Given the description of an element on the screen output the (x, y) to click on. 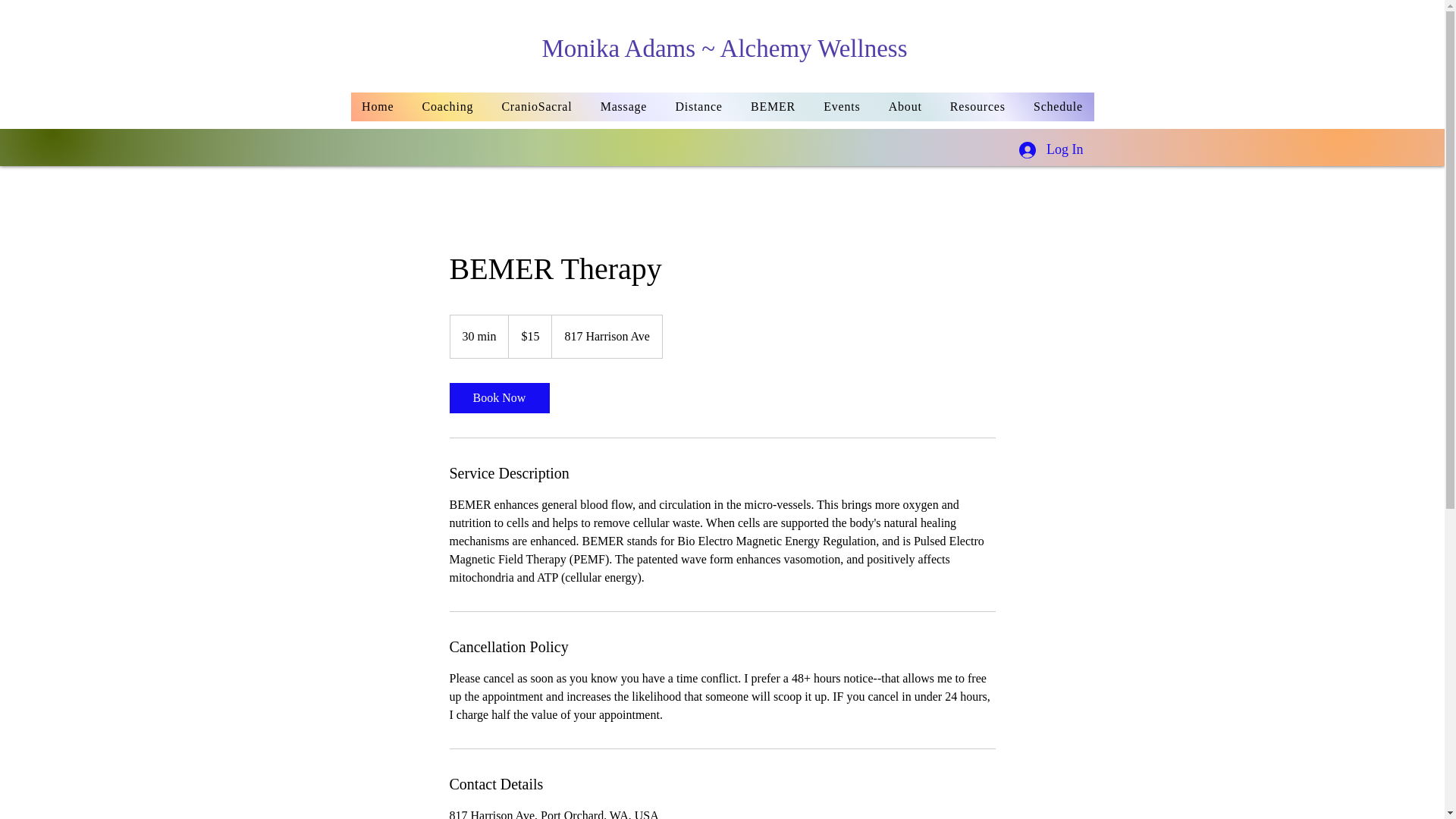
Alchemy Wellness (813, 48)
Book Now (498, 398)
Events (842, 106)
CranioSacral (536, 106)
Distance (698, 106)
Coaching (447, 106)
Resources (977, 106)
Massage (623, 106)
Home (377, 106)
About (905, 106)
